Given the description of an element on the screen output the (x, y) to click on. 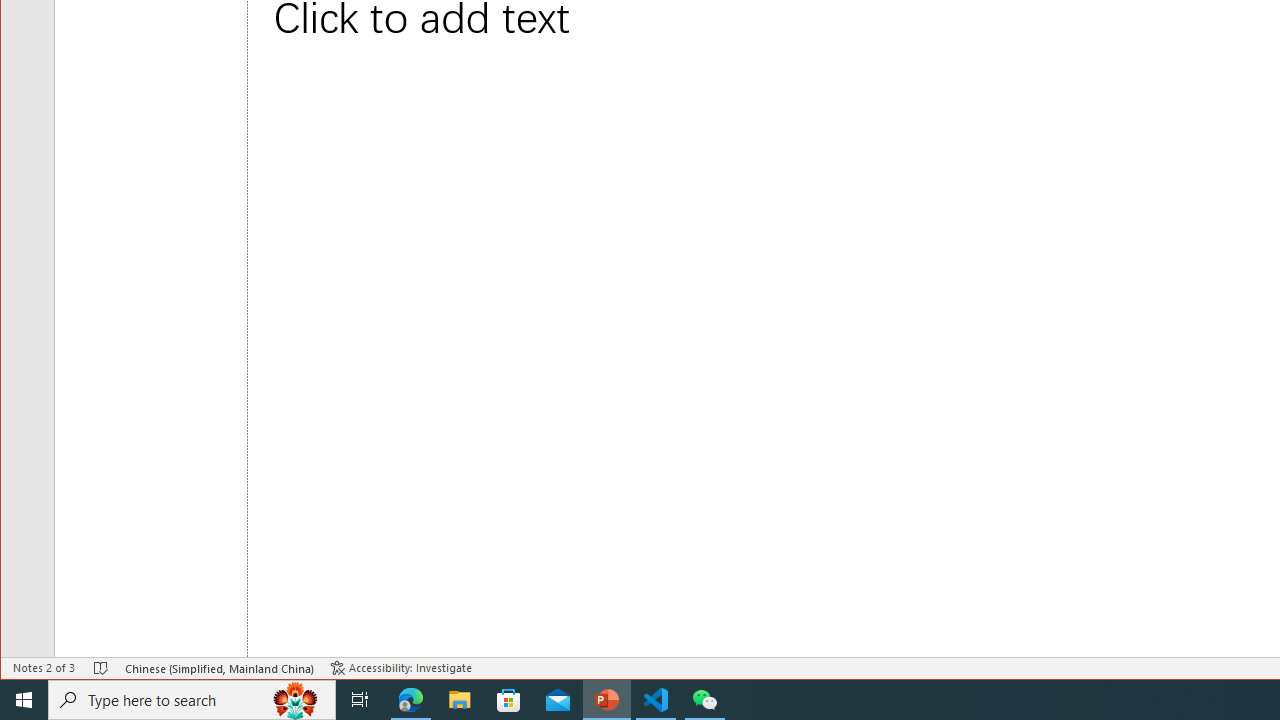
Type here to search (191, 699)
Microsoft Edge - 1 running window (411, 699)
Search highlights icon opens search home window (295, 699)
Microsoft Store (509, 699)
Task View (359, 699)
PowerPoint - 1 running window (607, 699)
Accessibility Checker Accessibility: Investigate (401, 668)
Visual Studio Code - 1 running window (656, 699)
Start (24, 699)
Spell Check No Errors (101, 668)
File Explorer (460, 699)
WeChat - 1 running window (704, 699)
